Given the description of an element on the screen output the (x, y) to click on. 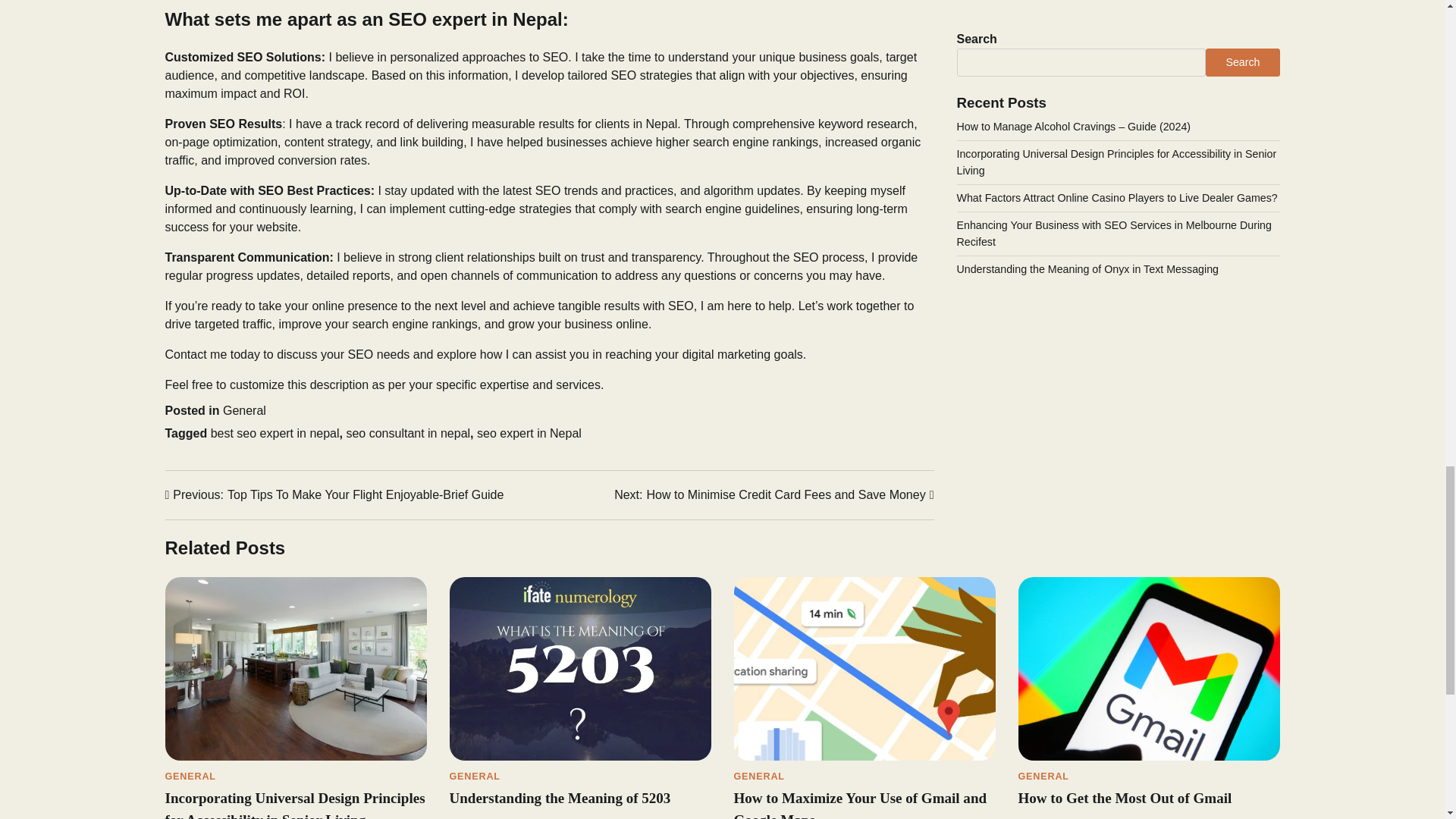
GENERAL (758, 776)
GENERAL (773, 494)
GENERAL (190, 776)
best seo expert in nepal (473, 776)
Recifestweb (275, 431)
General (478, 818)
seo expert in Nepal (244, 409)
Understanding the Meaning of 5203 (528, 431)
